Given the description of an element on the screen output the (x, y) to click on. 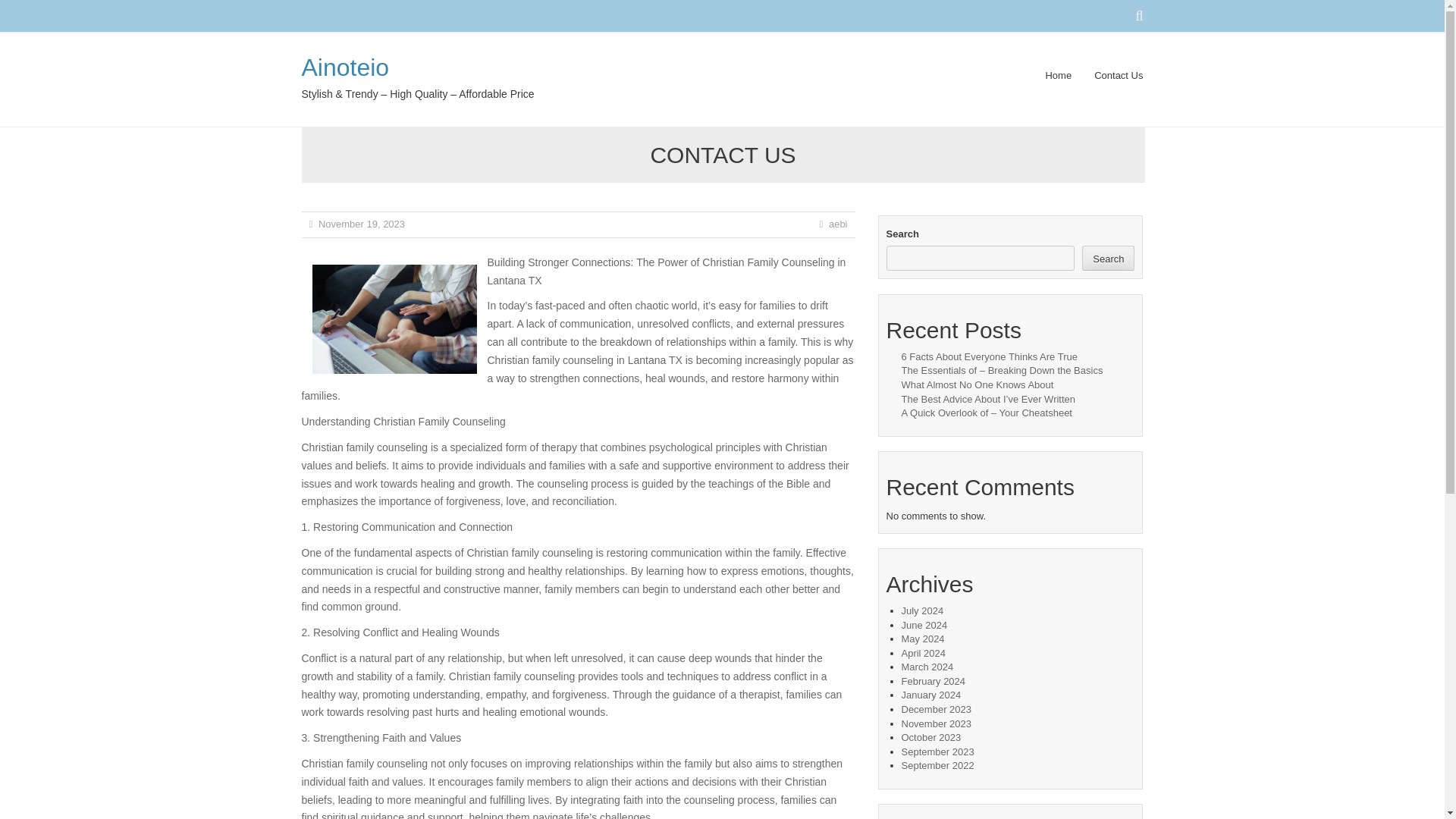
What Almost No One Knows About (976, 384)
April 2024 (922, 653)
February 2024 (933, 681)
October 2023 (930, 737)
July 2024 (922, 610)
January 2024 (930, 695)
December 2023 (936, 708)
September 2022 (937, 765)
March 2024 (927, 666)
Ainoteio (345, 67)
Search (1107, 258)
aebi (837, 224)
November 2023 (936, 723)
September 2023 (937, 751)
May 2024 (922, 638)
